Given the description of an element on the screen output the (x, y) to click on. 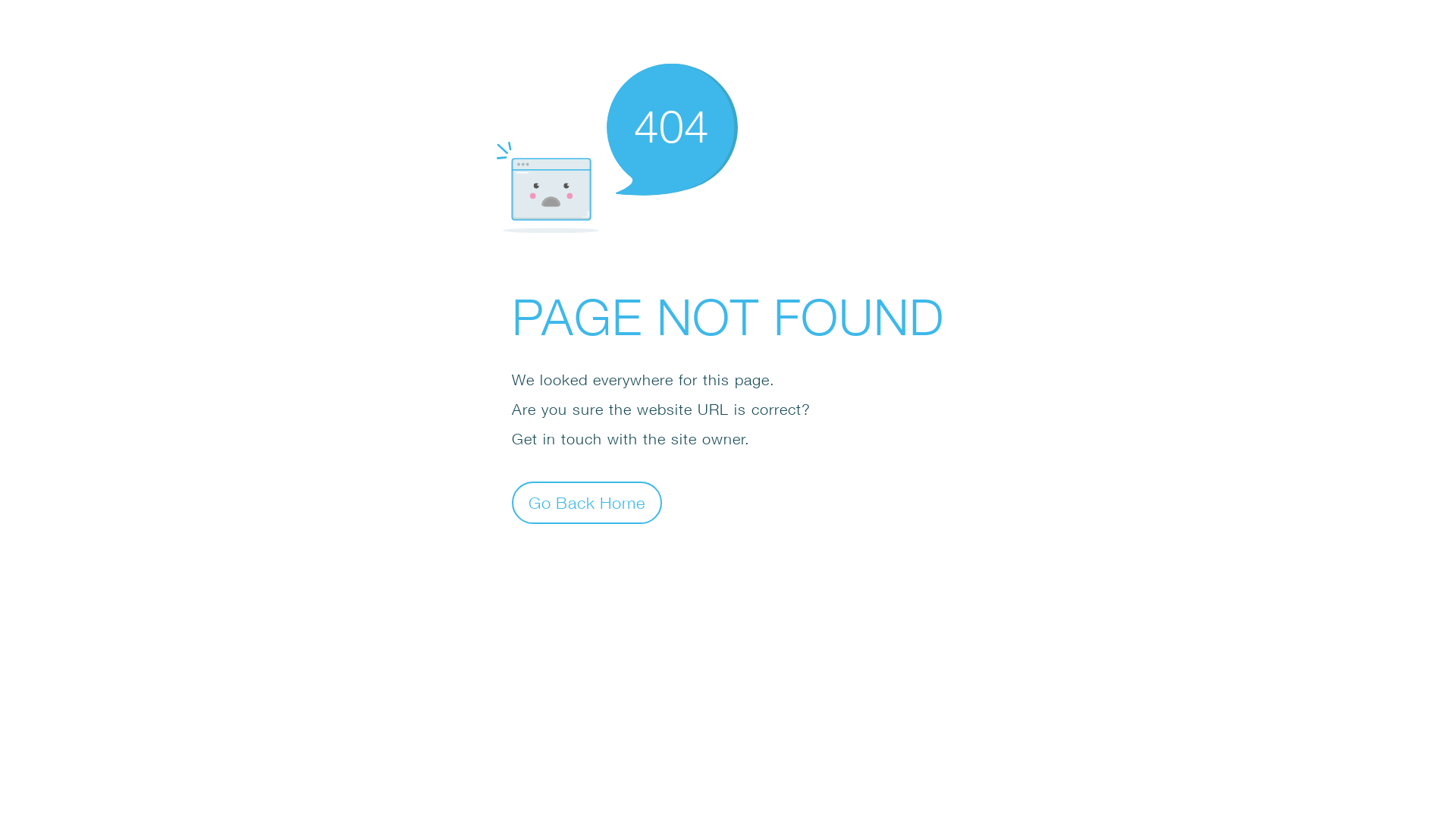
Go Back Home Element type: text (586, 502)
